Given the description of an element on the screen output the (x, y) to click on. 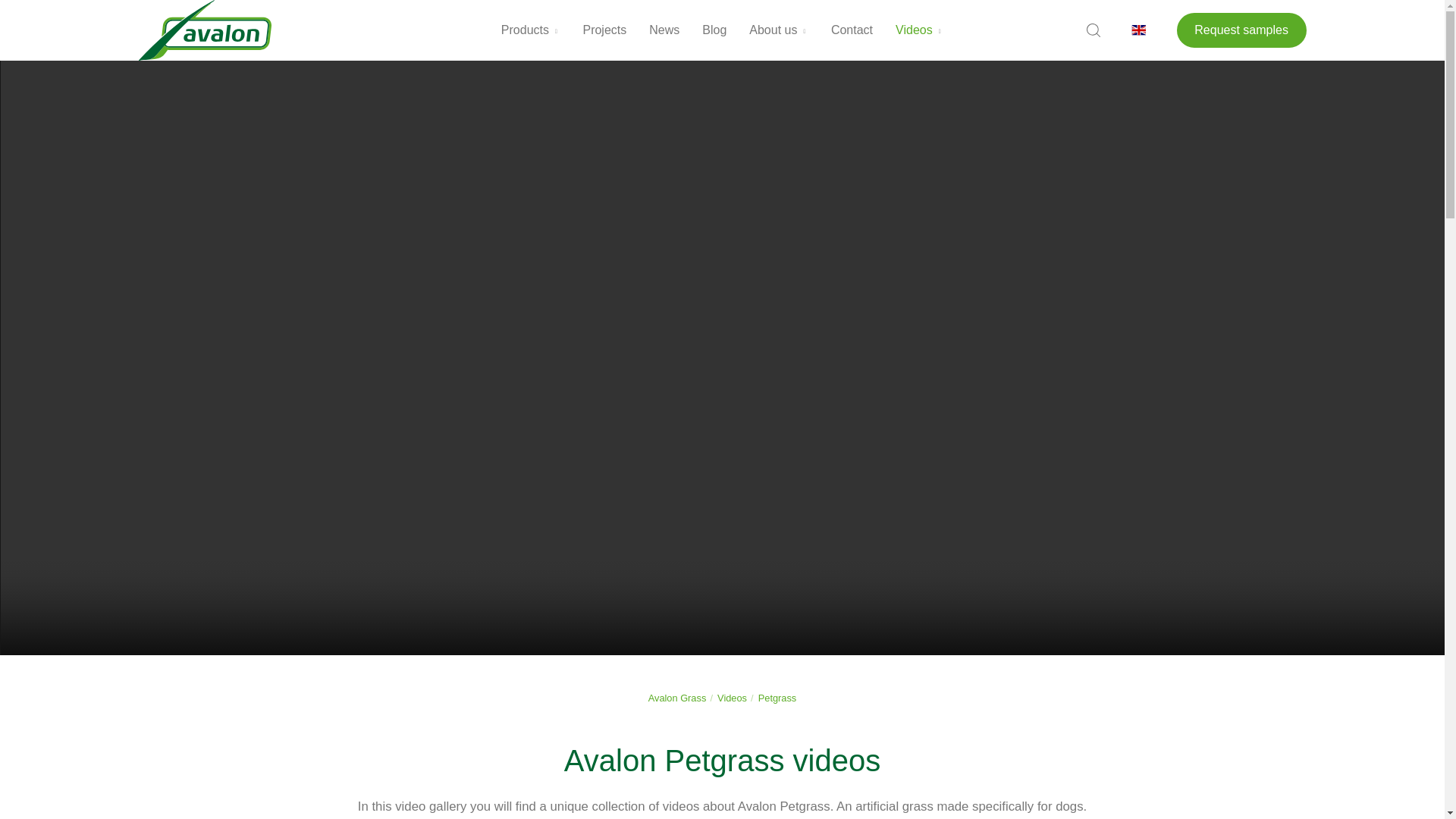
News (663, 30)
Request samples (1241, 30)
Contact (851, 30)
Blog (714, 30)
About us (778, 30)
Projects (603, 30)
Videos (919, 30)
Search (1093, 30)
Avalon Grass (204, 30)
Products (530, 30)
